Given the description of an element on the screen output the (x, y) to click on. 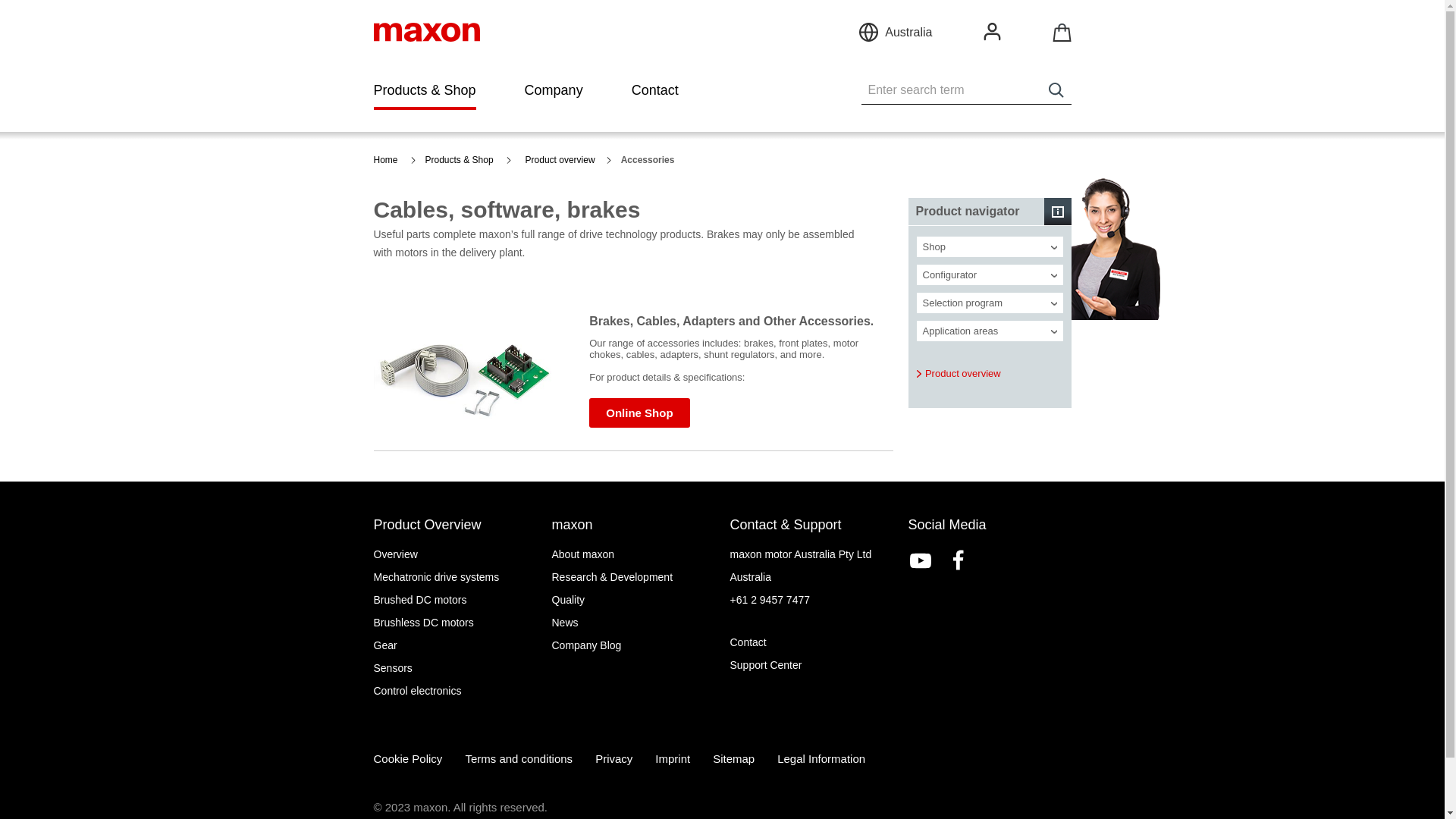
+61 2 9457 7477 Element type: text (810, 599)
Imprint Element type: text (672, 758)
Brushed DC motors Element type: text (454, 599)
Gear Element type: text (454, 645)
About maxon Element type: text (633, 554)
Product overview Element type: text (958, 373)
Research & Development Element type: text (633, 577)
Privacy Element type: text (613, 758)
Control electronics Element type: text (454, 690)
Accessories Element type: text (652, 159)
Overview Element type: text (454, 554)
Sensors Element type: text (454, 668)
Products & Shop Element type: text (463, 159)
Terms and conditions Element type: text (518, 758)
Legal Information Element type: text (821, 758)
Home Element type: text (394, 159)
Quality Element type: text (633, 599)
Company Blog Element type: text (633, 645)
News Element type: text (633, 622)
Contact Element type: text (810, 642)
Mechatronic drive systems Element type: text (454, 577)
Sitemap Element type: text (733, 758)
Online Shop Element type: text (639, 412)
Brushless DC motors Element type: text (454, 622)
Support Center Element type: text (810, 664)
Product overview Element type: text (561, 159)
Cookie Policy Element type: text (407, 758)
